Given the description of an element on the screen output the (x, y) to click on. 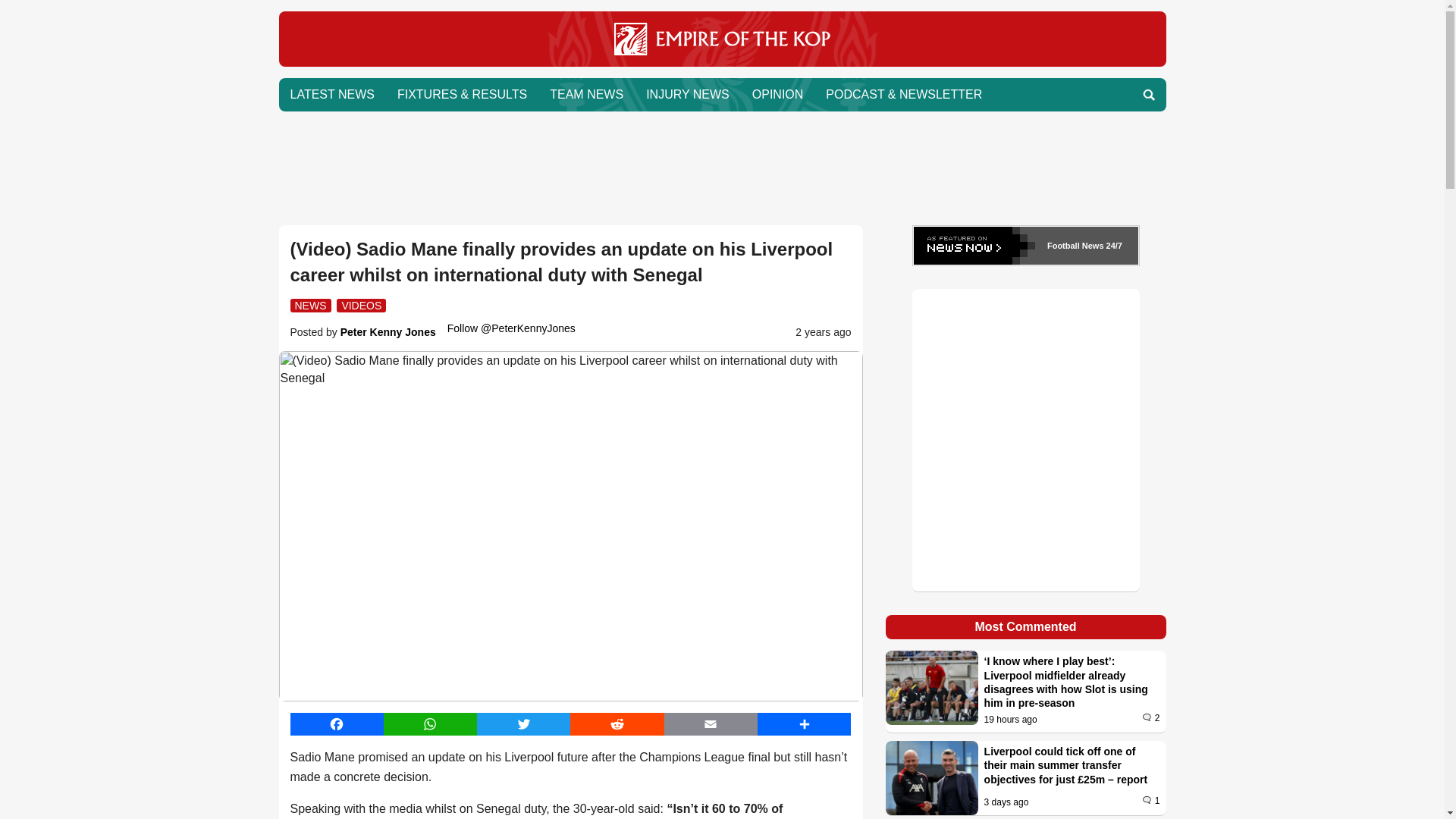
VIDEOS (360, 305)
Liverpool Injury News (687, 94)
Facebook (335, 723)
INJURY NEWS (687, 94)
Share (803, 723)
Liverpool News (721, 62)
Search (1147, 94)
Liverpool Opinion Pieces (778, 94)
NEWS (309, 305)
Latest Liverpool News (332, 94)
OPINION (778, 94)
WhatsApp (430, 723)
Empire Of The Kop Podcast (902, 94)
TEAM NEWS (586, 94)
LATEST NEWS (332, 94)
